Given the description of an element on the screen output the (x, y) to click on. 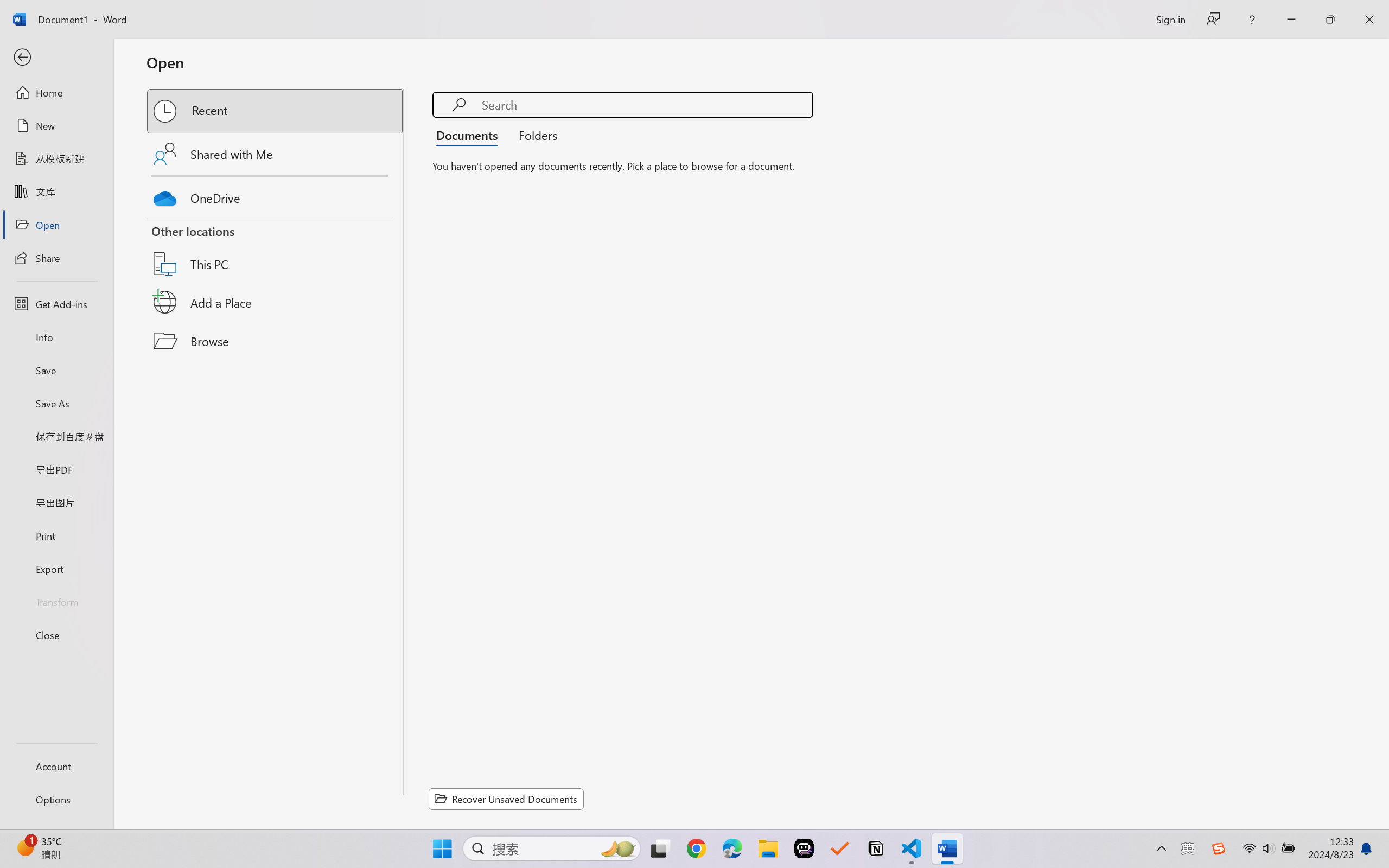
OneDrive (275, 195)
This PC (275, 249)
Transform (56, 601)
Add a Place (275, 302)
Options (56, 798)
Shared with Me (275, 153)
